Given the description of an element on the screen output the (x, y) to click on. 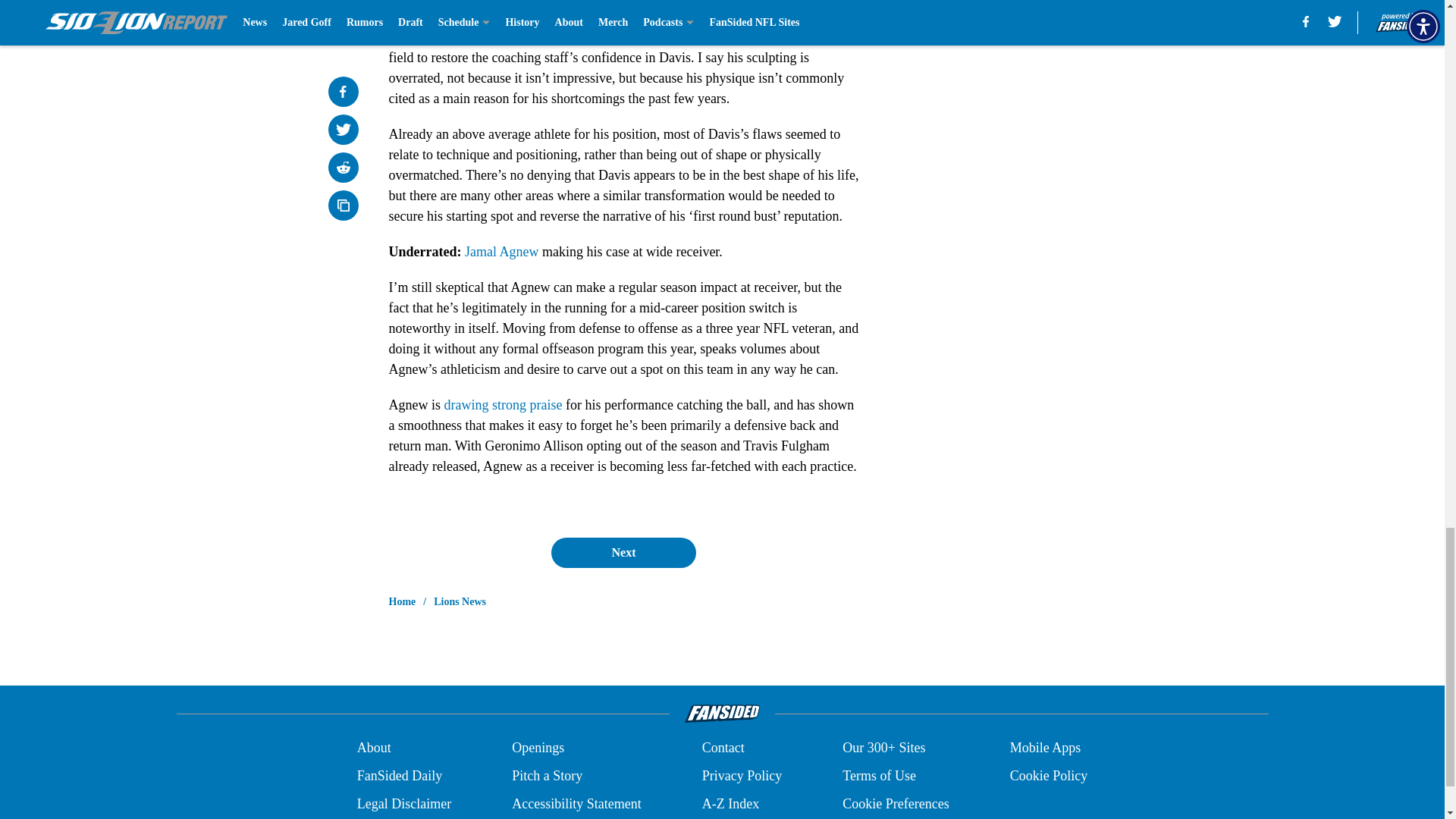
Jamal Agnew (501, 251)
About (373, 747)
Lions News (459, 601)
Openings (538, 747)
Next (622, 552)
drawing strong praise (503, 404)
Contact (722, 747)
Home (401, 601)
